Given the description of an element on the screen output the (x, y) to click on. 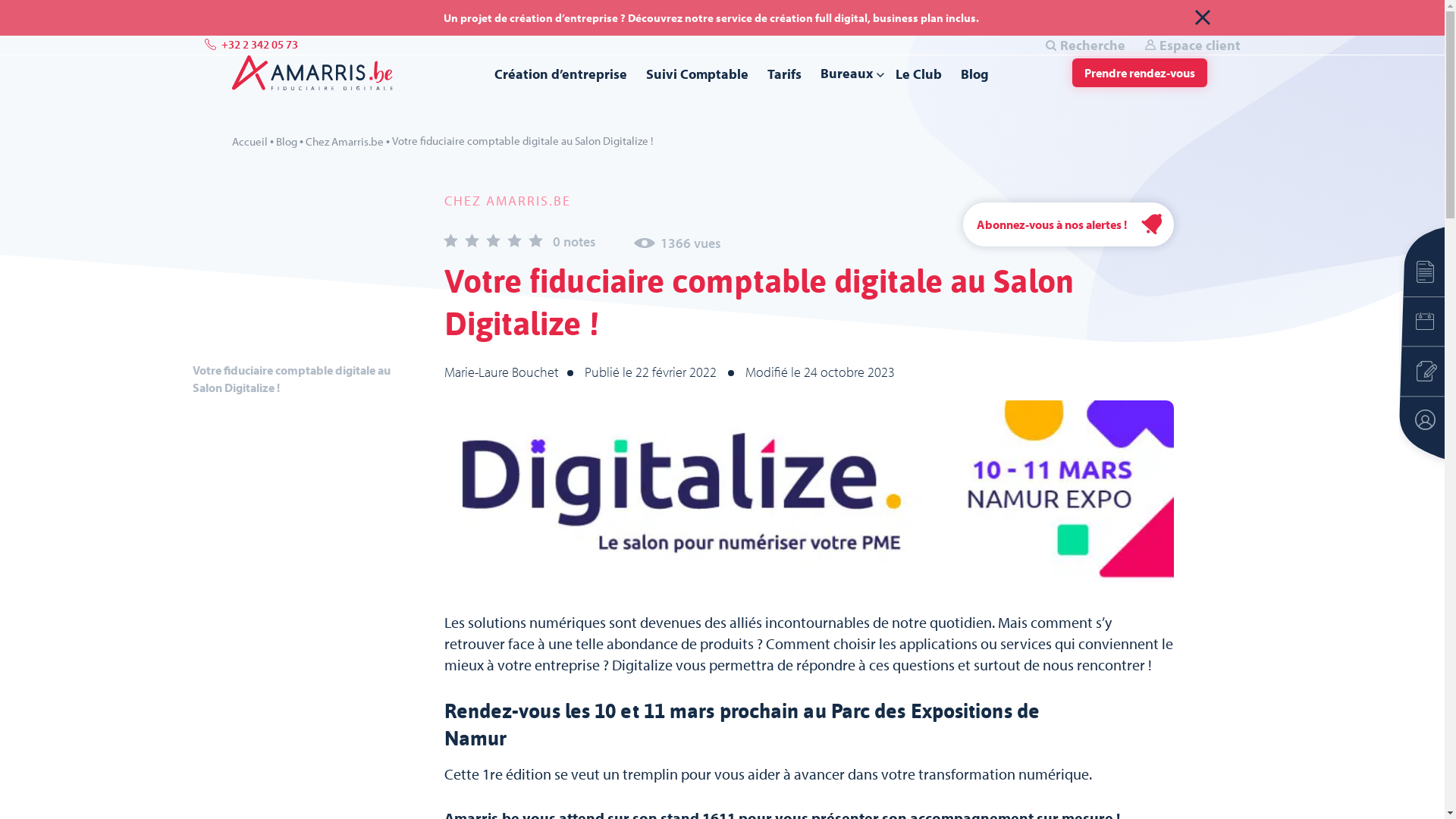
Chez Amarris.be Element type: text (343, 141)
Accueil Element type: text (249, 141)
+32 2 342 05 73 Element type: text (251, 45)
Recherche Element type: text (1084, 44)
Aller au contenu Element type: text (49, 28)
Suivi Comptable Element type: text (697, 73)
Le Club Element type: text (917, 73)
Bureaux Element type: text (846, 72)
Prendre rendez-vous Element type: text (1139, 72)
Blog Element type: text (286, 141)
Espace client Element type: text (1191, 44)
Tarifs Element type: text (784, 73)
Aller au menu Element type: text (41, 39)
Blog Element type: text (974, 73)
